Given the description of an element on the screen output the (x, y) to click on. 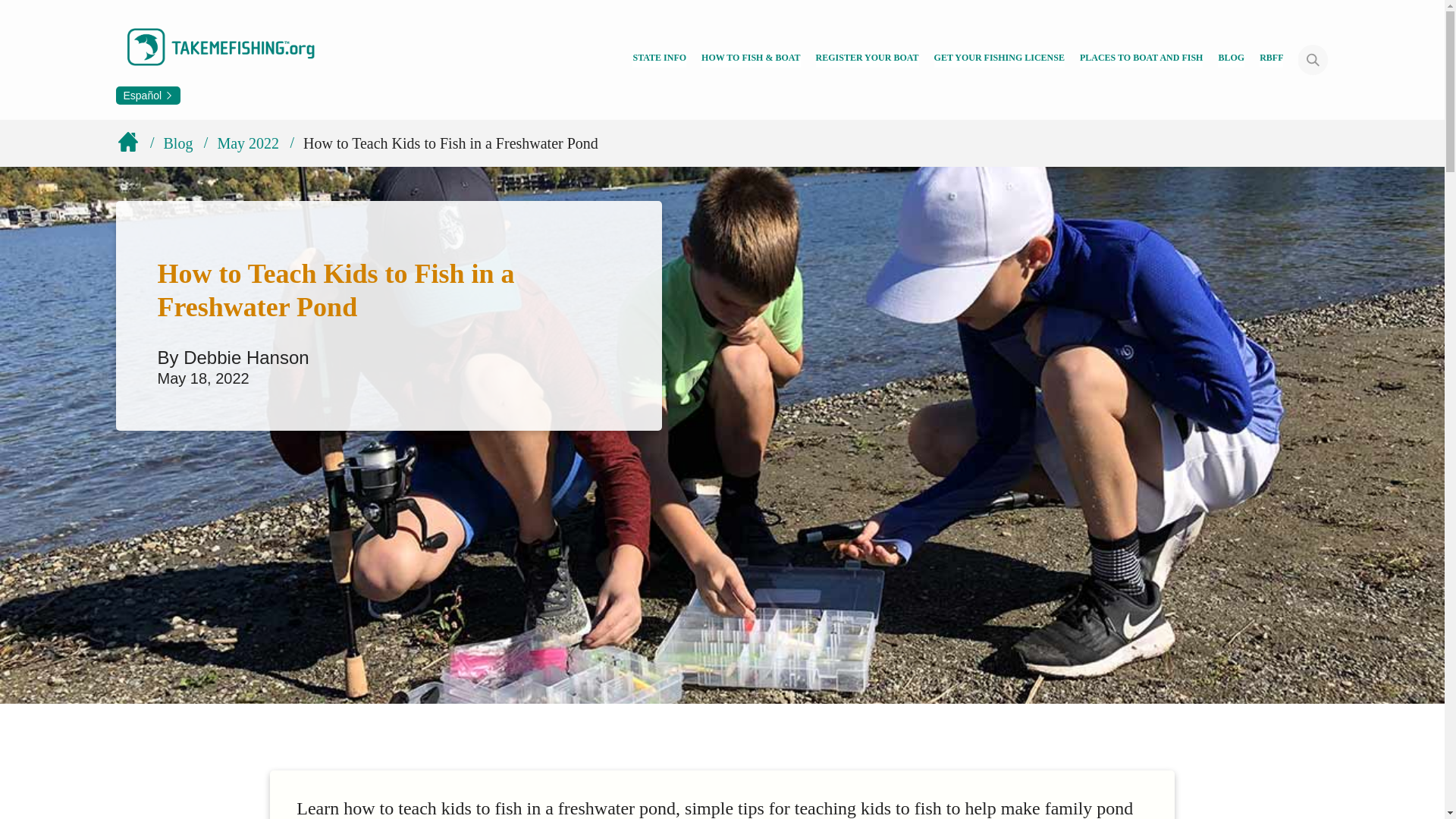
GET YOUR FISHING LICENSE (999, 59)
RBFF (1270, 59)
PLACES TO BOAT AND FISH (1142, 59)
Register Your Boat (866, 59)
Get Your Fishing License (999, 59)
Blog (1230, 59)
BLOG (1230, 59)
RBFF (1270, 59)
Places To Boat And Fish (1142, 59)
REGISTER YOUR BOAT (866, 59)
